Given the description of an element on the screen output the (x, y) to click on. 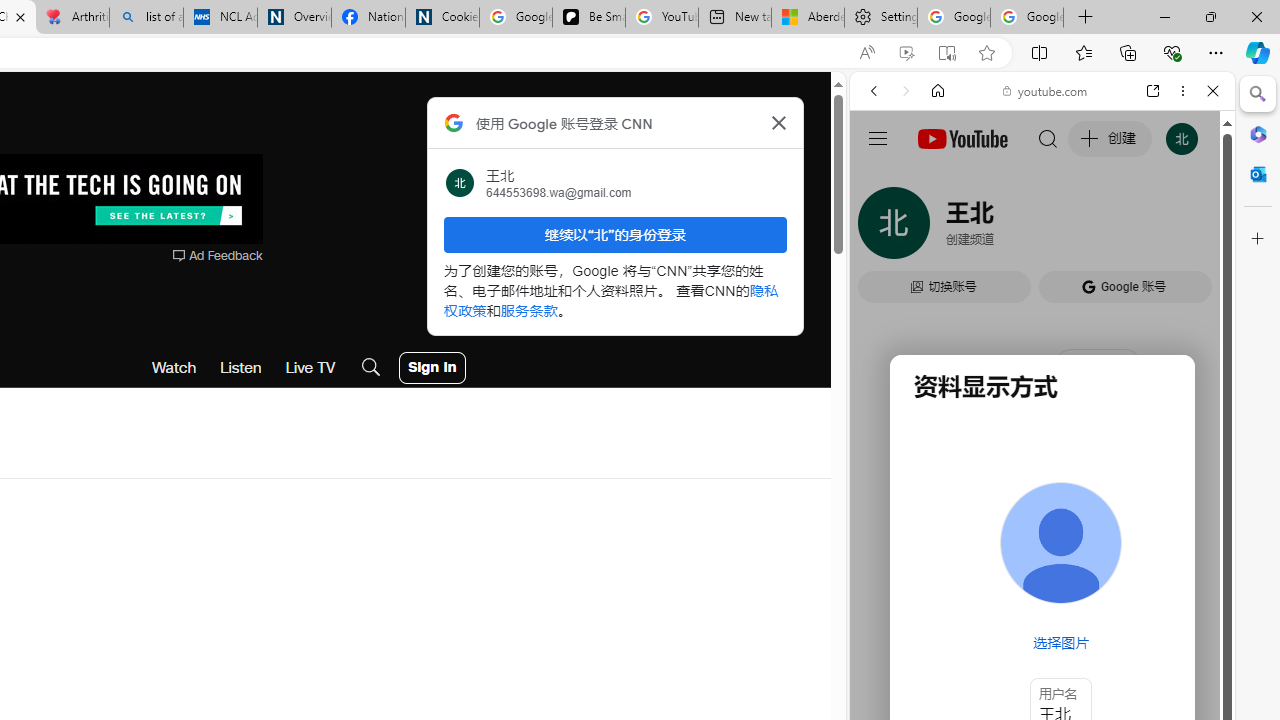
Class: b_serphb (1190, 229)
Listen (241, 367)
Class: Bz112c Bz112c-r9oPif (778, 122)
SEARCH TOOLS (1093, 228)
YouTube (1034, 296)
Aberdeen, Hong Kong SAR hourly forecast | Microsoft Weather (807, 17)
This site scope (936, 180)
